Given the description of an element on the screen output the (x, y) to click on. 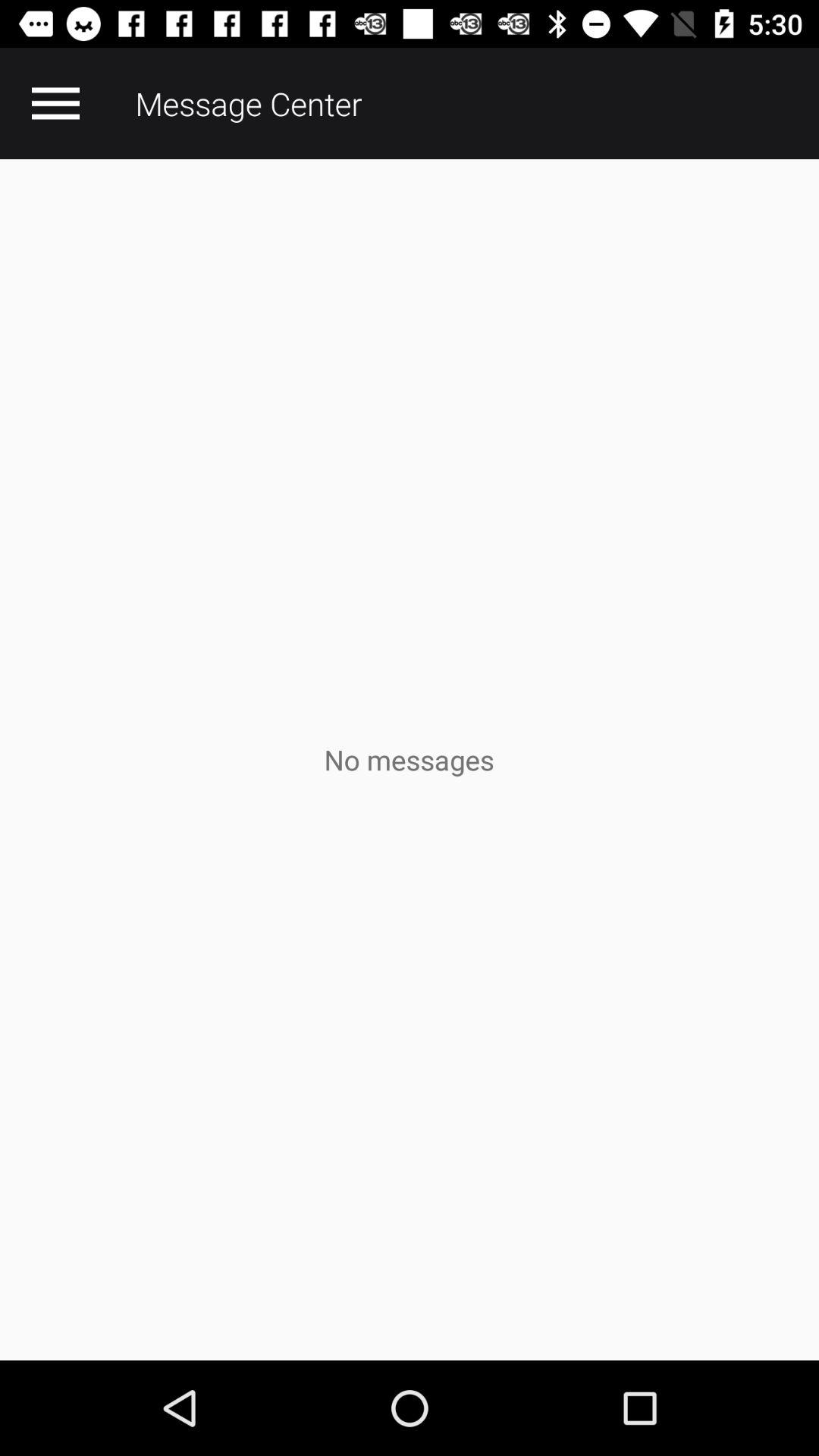
tap the app to the left of the message center icon (55, 103)
